Given the description of an element on the screen output the (x, y) to click on. 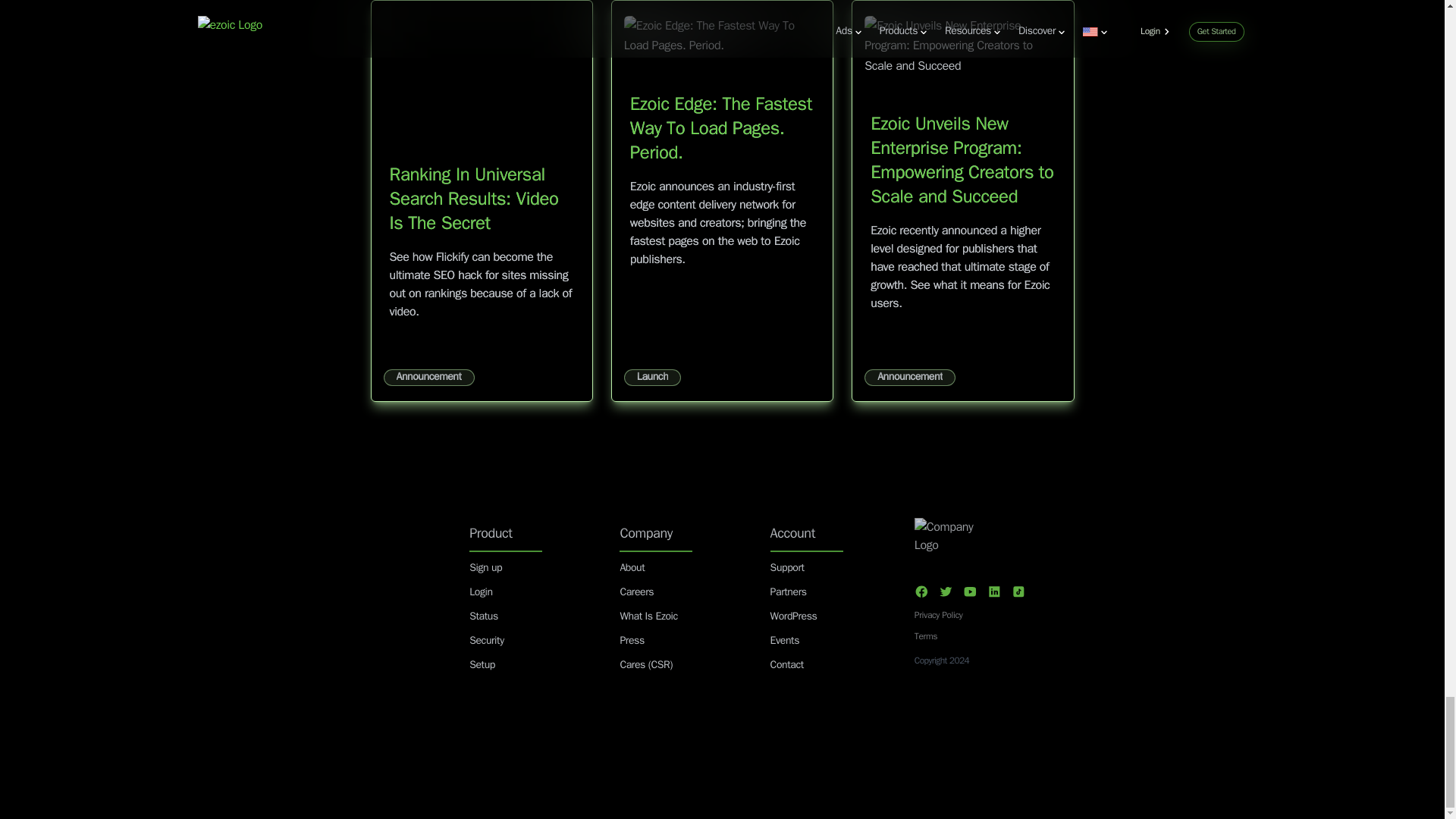
Ezoic Edge: The Fastest Way To Load Pages. Period. (721, 128)
Ranking In Universal Search Results: Video Is The Secret (474, 199)
